Given the description of an element on the screen output the (x, y) to click on. 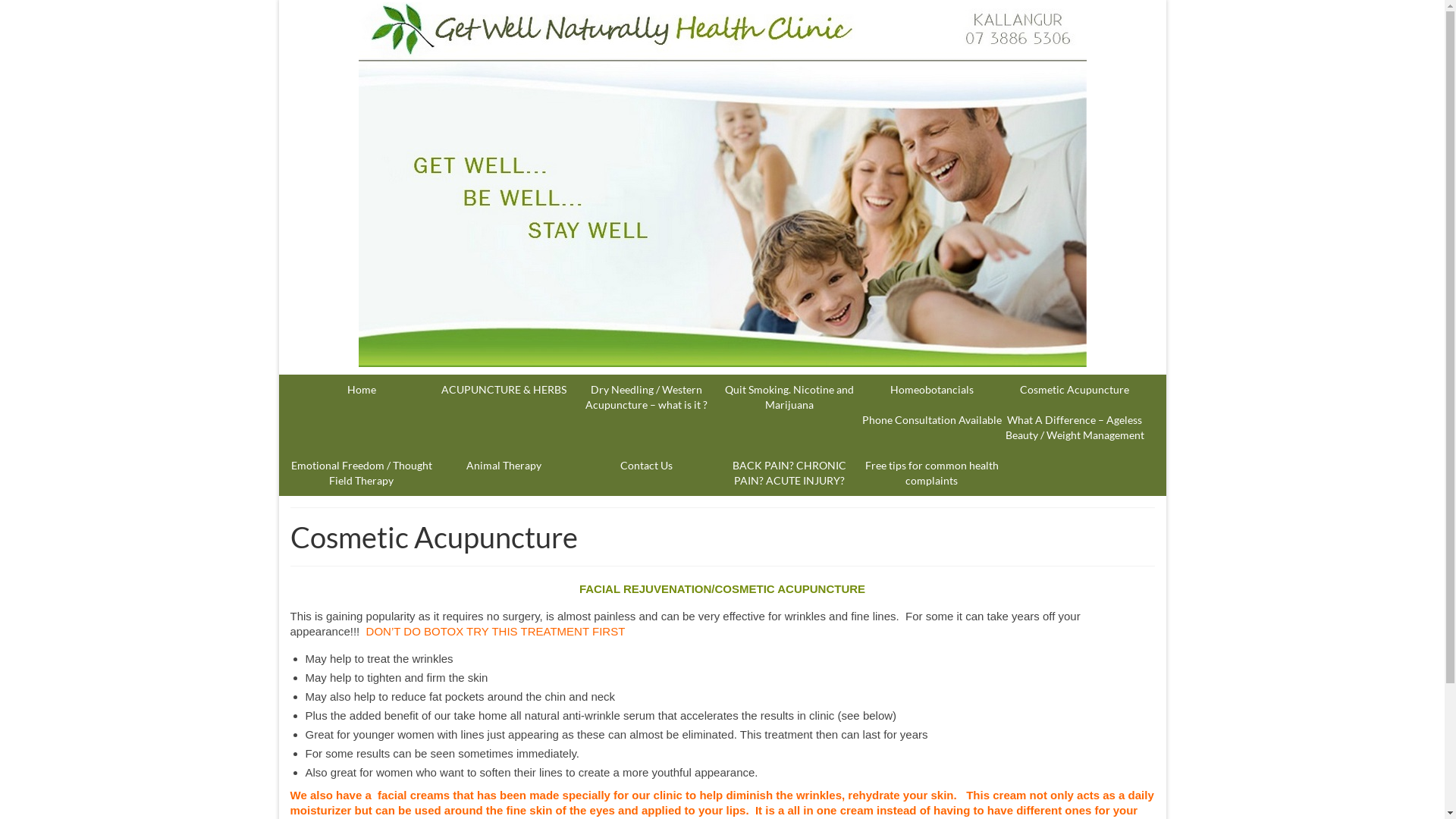
Quit Smoking. Nicotine and Marijuana Element type: text (789, 397)
Homeobotancials Element type: text (931, 389)
Animal Therapy Element type: text (504, 465)
BACK PAIN? CHRONIC PAIN? ACUTE INJURY? Element type: text (789, 472)
Home Element type: text (360, 389)
Contact Us Element type: text (646, 465)
Phone Consultation Available Element type: text (931, 419)
Emotional Freedom / Thought Field Therapy Element type: text (360, 472)
Free tips for common health complaints Element type: text (931, 472)
ACUPUNCTURE & HERBS Element type: text (504, 389)
Cosmetic Acupuncture Element type: text (1074, 389)
